Given the description of an element on the screen output the (x, y) to click on. 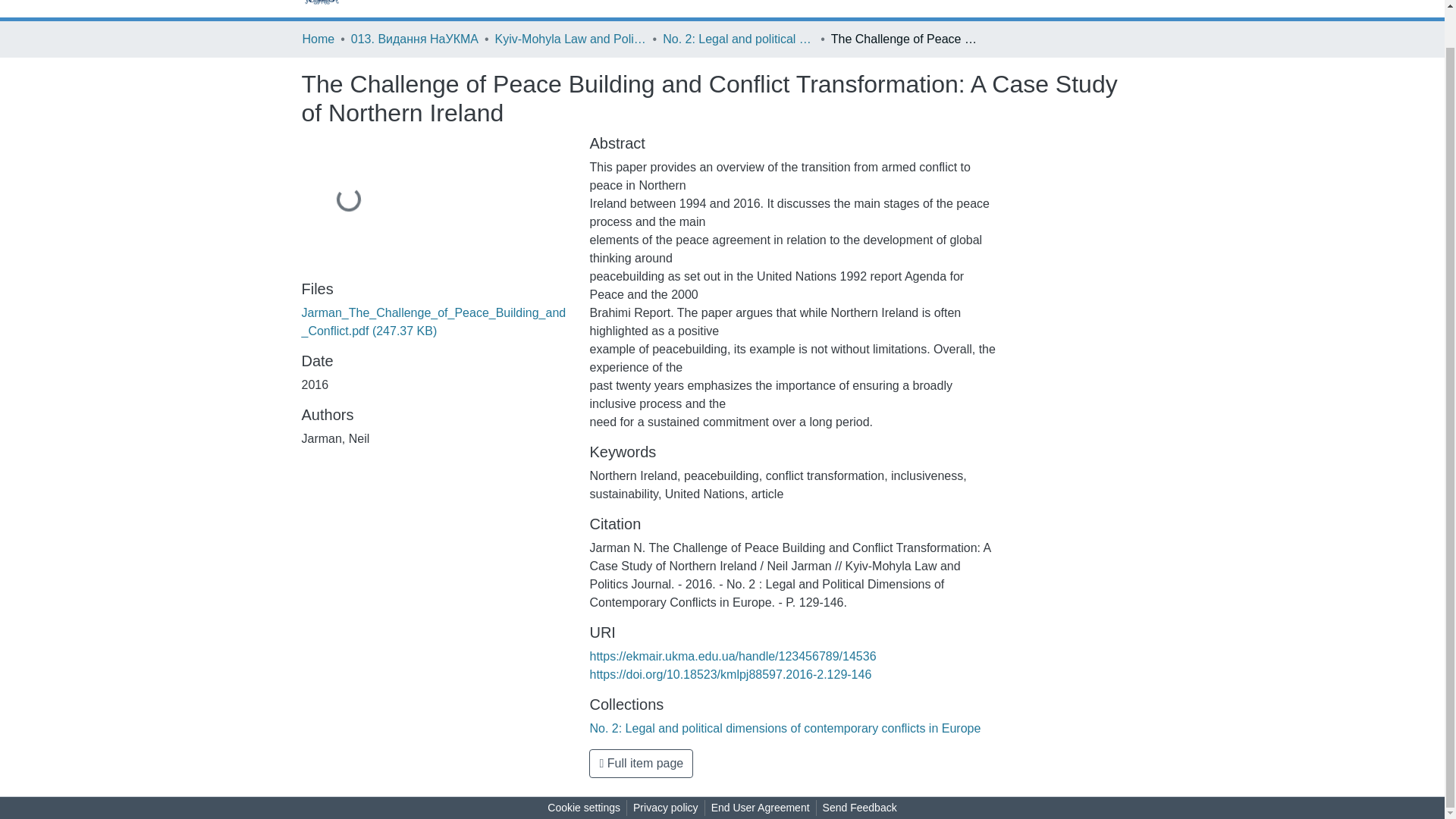
Kyiv-Mohyla Law and Politics Journal (570, 39)
Statistics (635, 2)
Home (317, 39)
Send Feedback (859, 807)
All of DSpace (558, 2)
Privacy policy (665, 807)
Cookie settings (583, 807)
Full item page (641, 763)
